Given the description of an element on the screen output the (x, y) to click on. 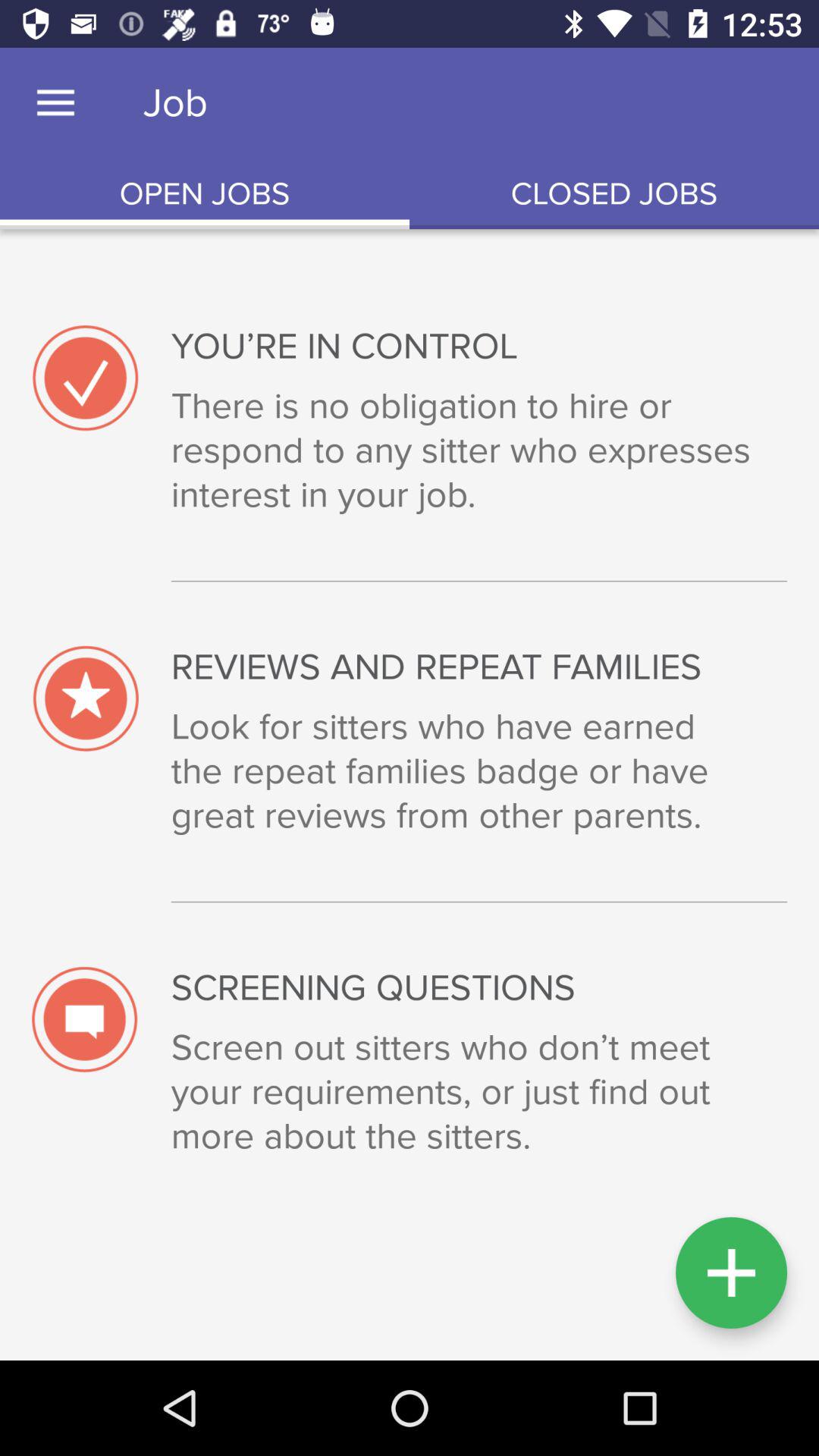
open the item next to the closed jobs icon (204, 194)
